Given the description of an element on the screen output the (x, y) to click on. 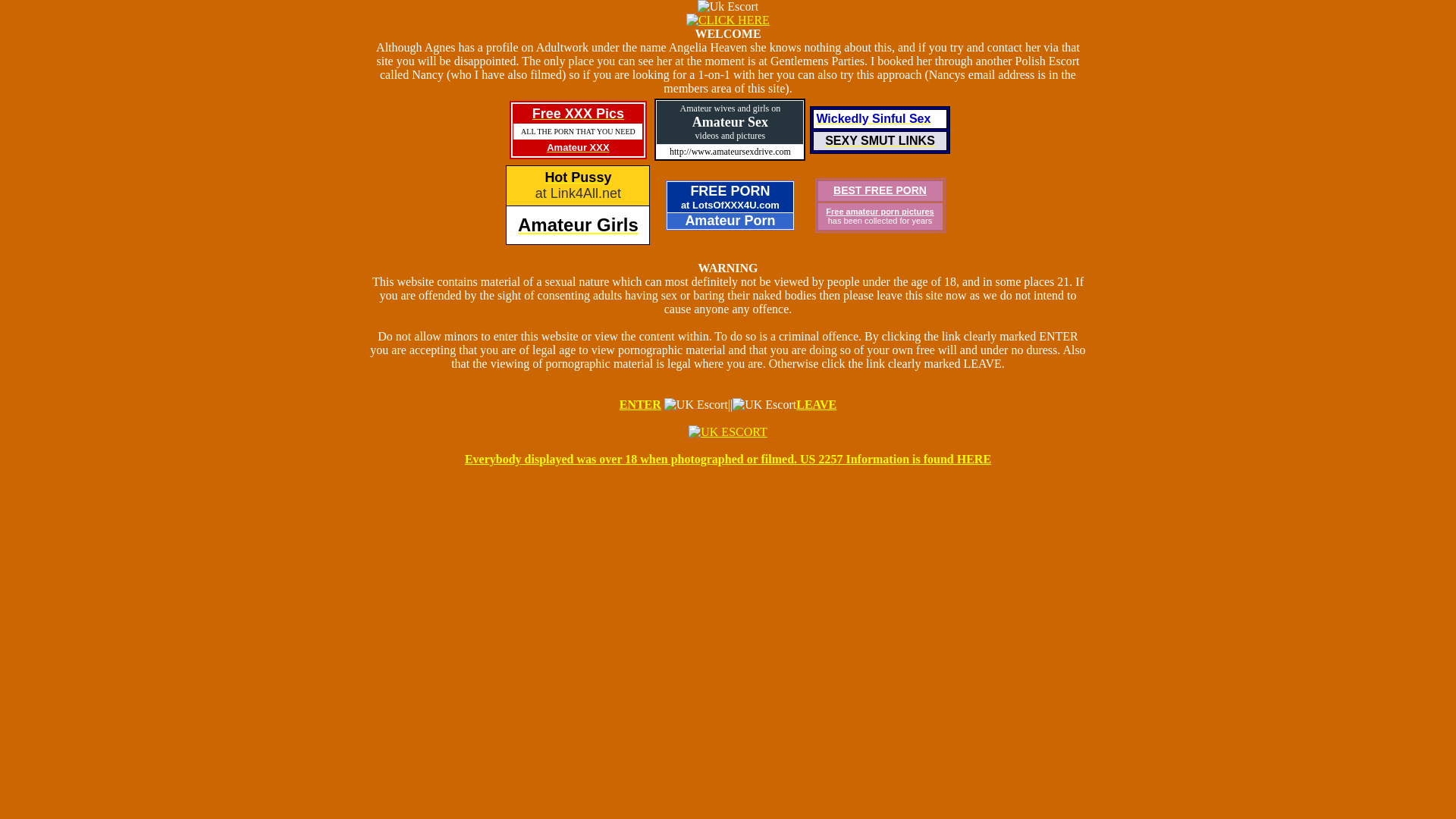
SEXY SMUT LINKS (879, 139)
Amateur Sex (730, 121)
Free Porn (879, 190)
ENTER (640, 404)
Wickedly Sinful Sex (872, 118)
FREE PORN (730, 191)
Free XXX Pics (578, 113)
BEST FREE PORN (879, 190)
Hot Pussy (577, 177)
Wickedly Sinful Sex (872, 118)
Amateur Girls (578, 224)
LEAVE (815, 404)
Amateur XXX (577, 145)
Free amateur porn pictures (879, 211)
